Given the description of an element on the screen output the (x, y) to click on. 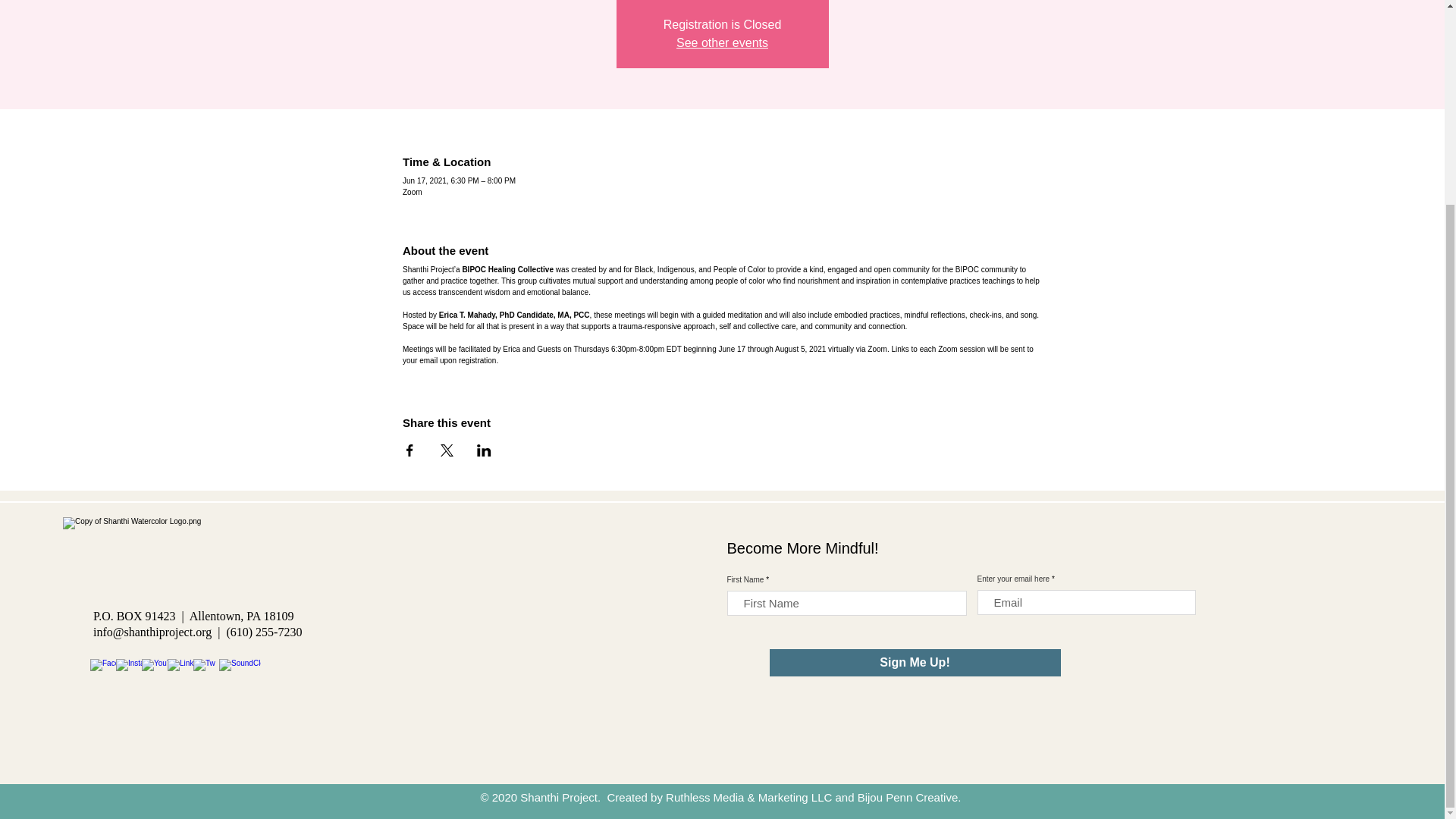
Sign Me Up! (913, 662)
See other events (722, 42)
